Given the description of an element on the screen output the (x, y) to click on. 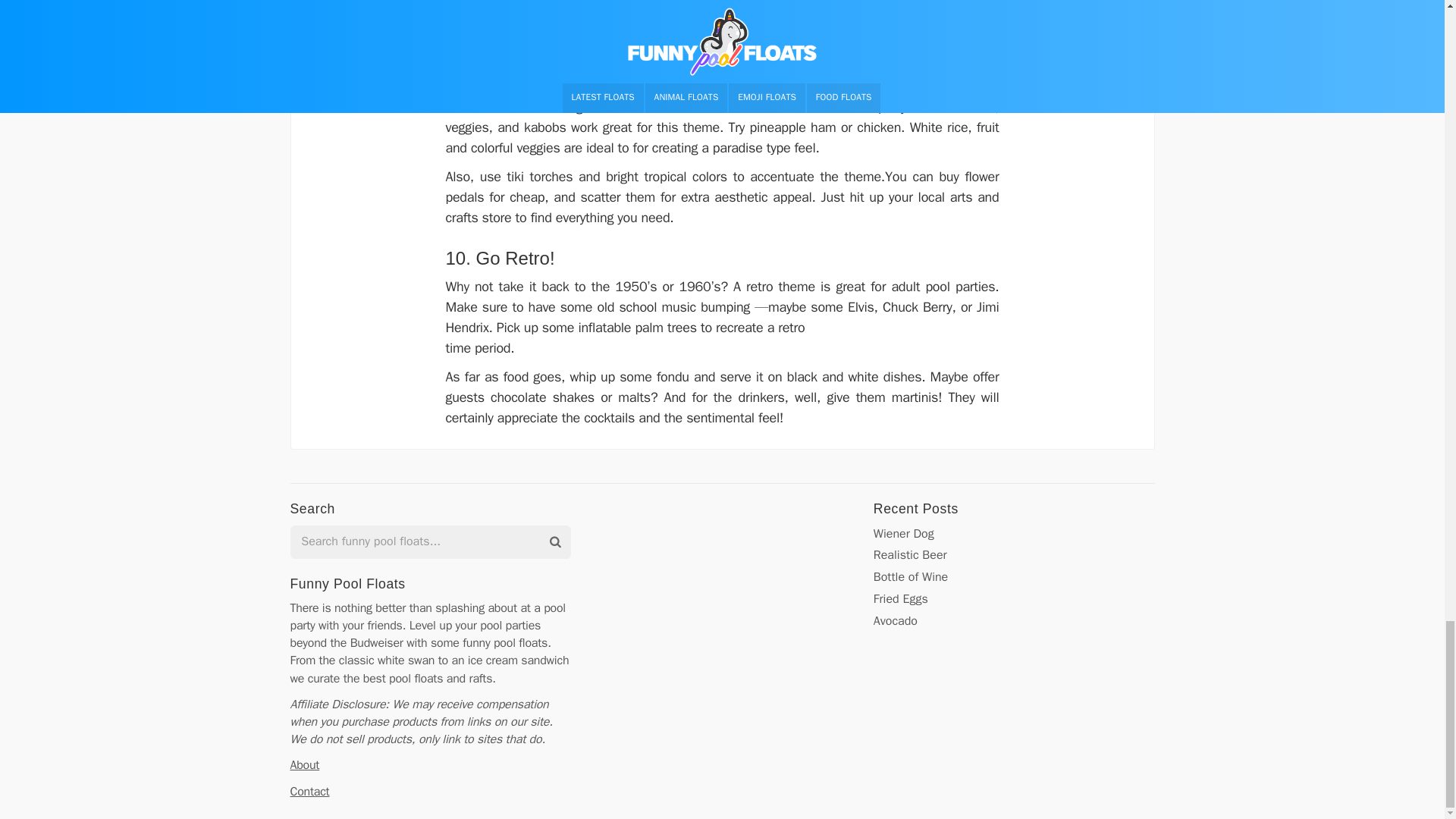
Contact (309, 791)
Avocado (895, 620)
Fried Eggs (900, 598)
Wiener Dog (903, 532)
Bottle of Wine (910, 576)
Realistic Beer (910, 554)
About (303, 765)
